Given the description of an element on the screen output the (x, y) to click on. 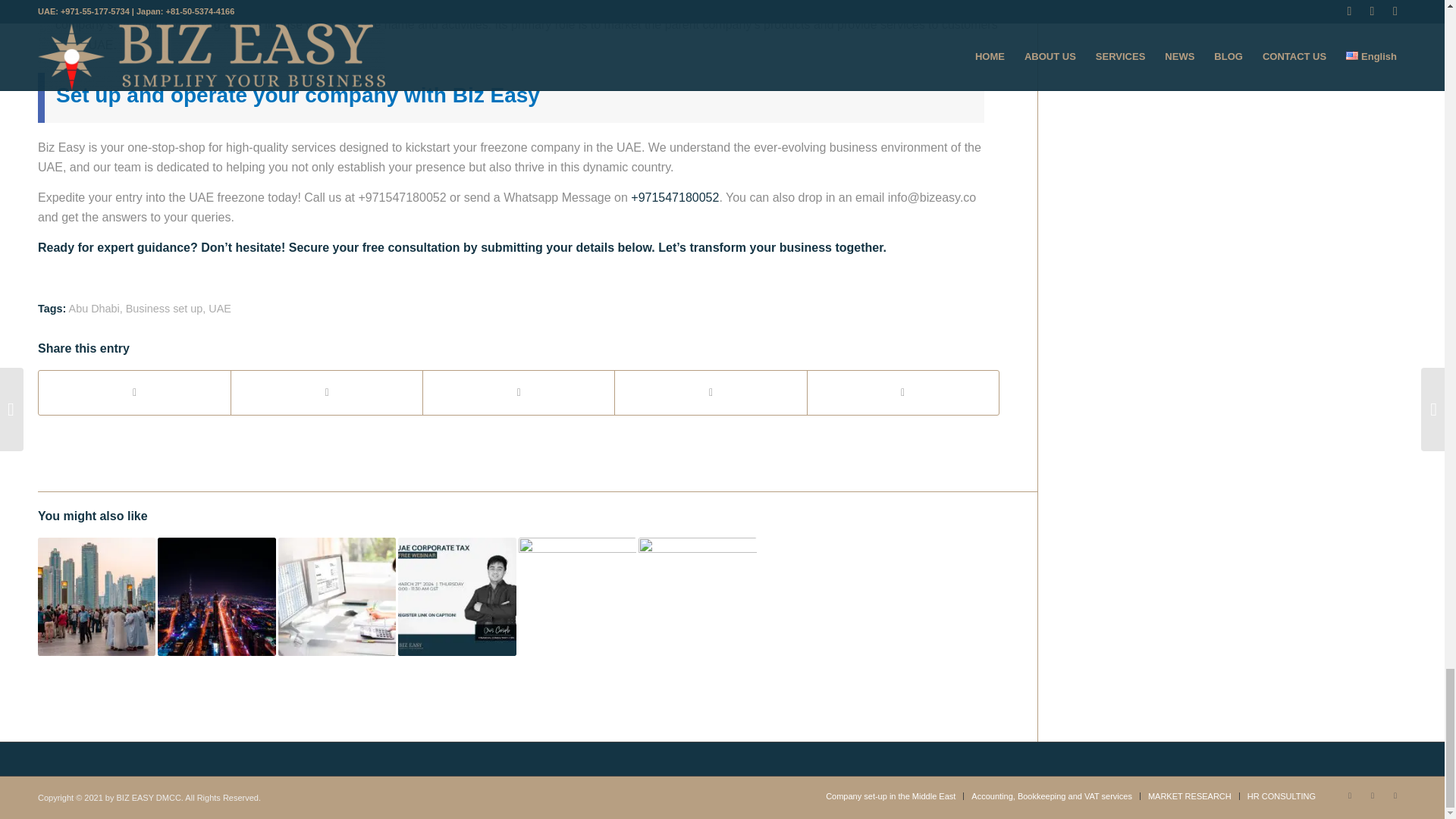
UAE (219, 308)
Abu Dhabi (93, 308)
Business set up (164, 308)
